Given the description of an element on the screen output the (x, y) to click on. 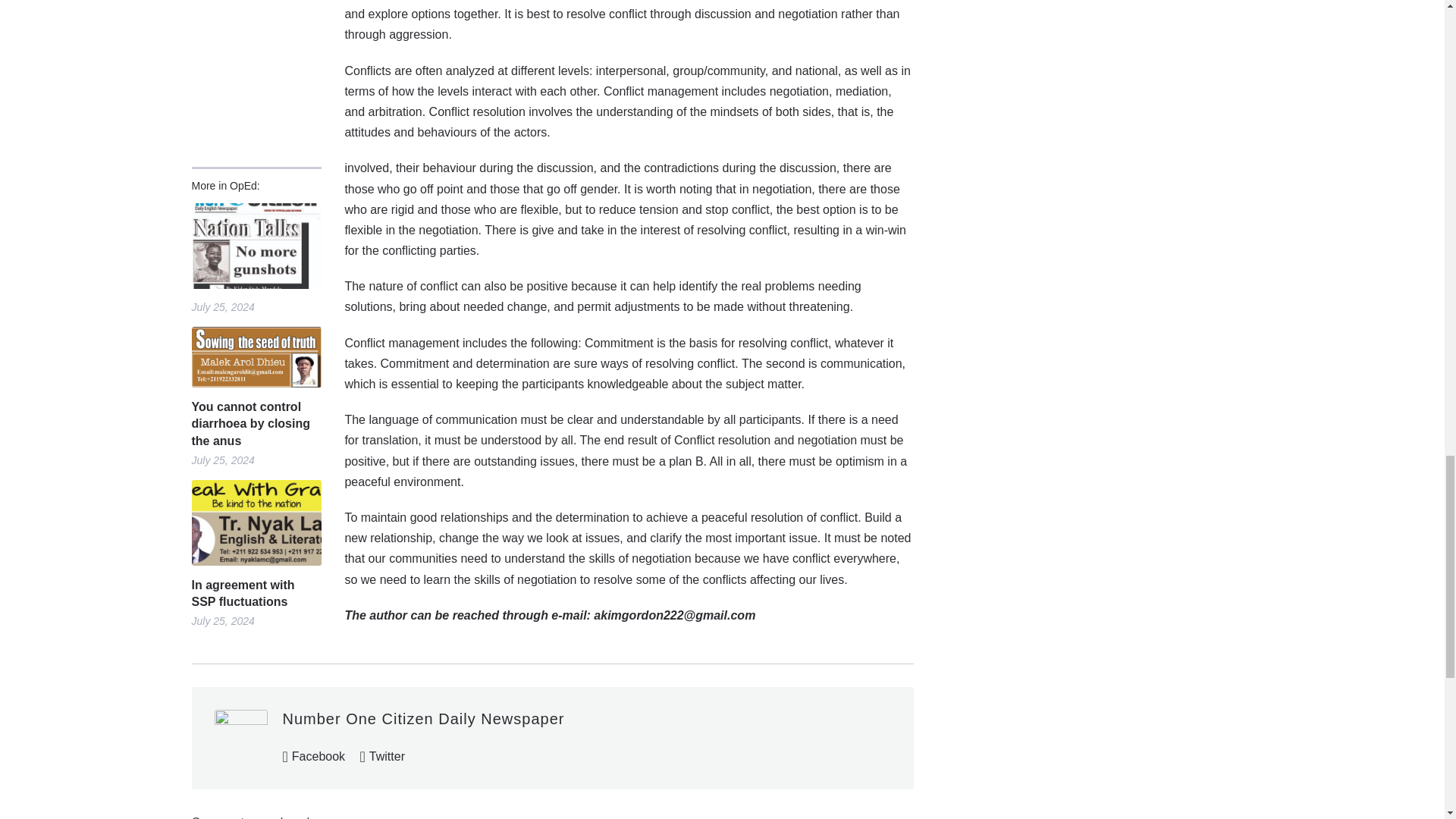
Permalink to  (255, 246)
